Given the description of an element on the screen output the (x, y) to click on. 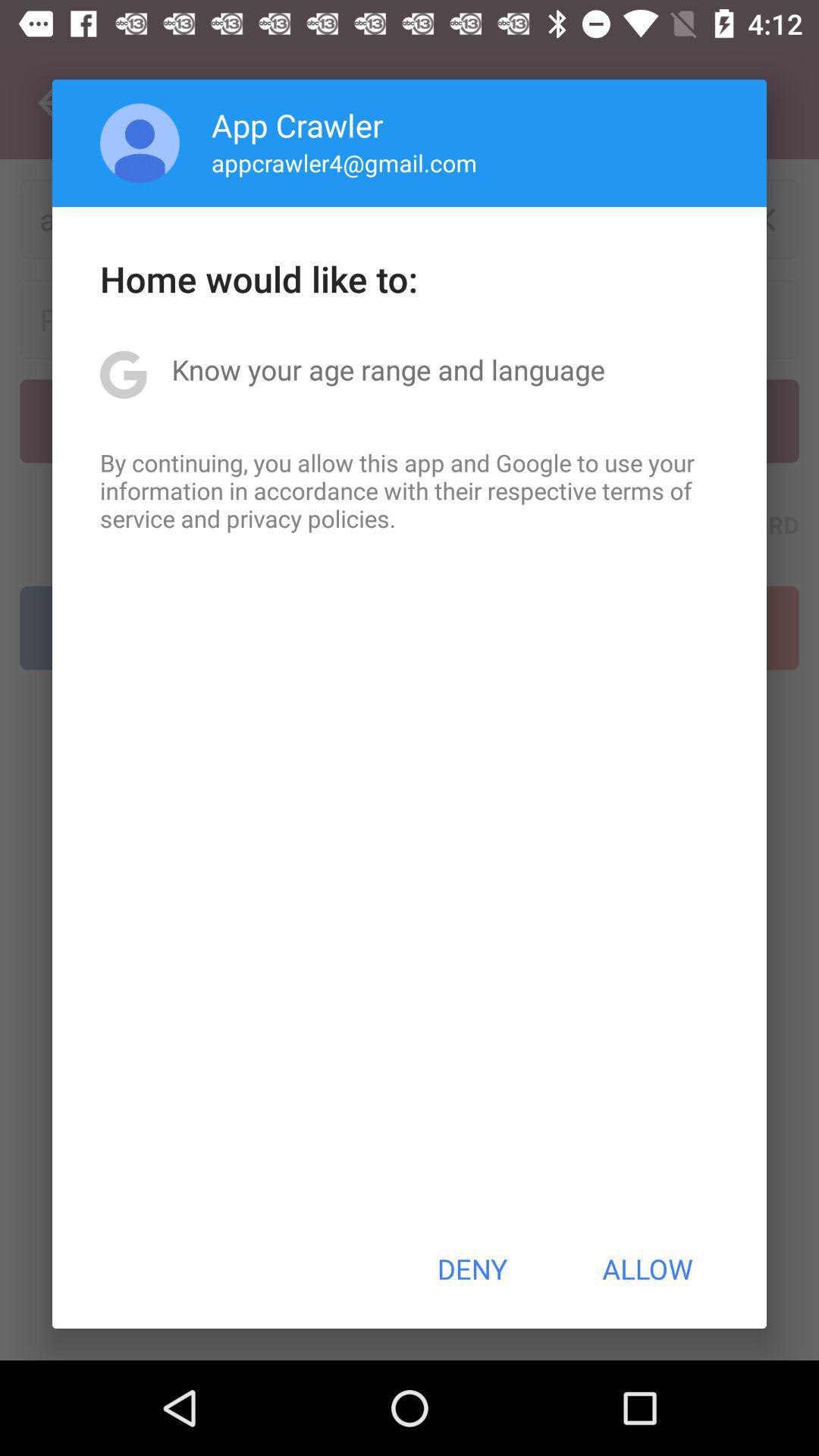
tap app above appcrawler4@gmail.com icon (297, 124)
